Given the description of an element on the screen output the (x, y) to click on. 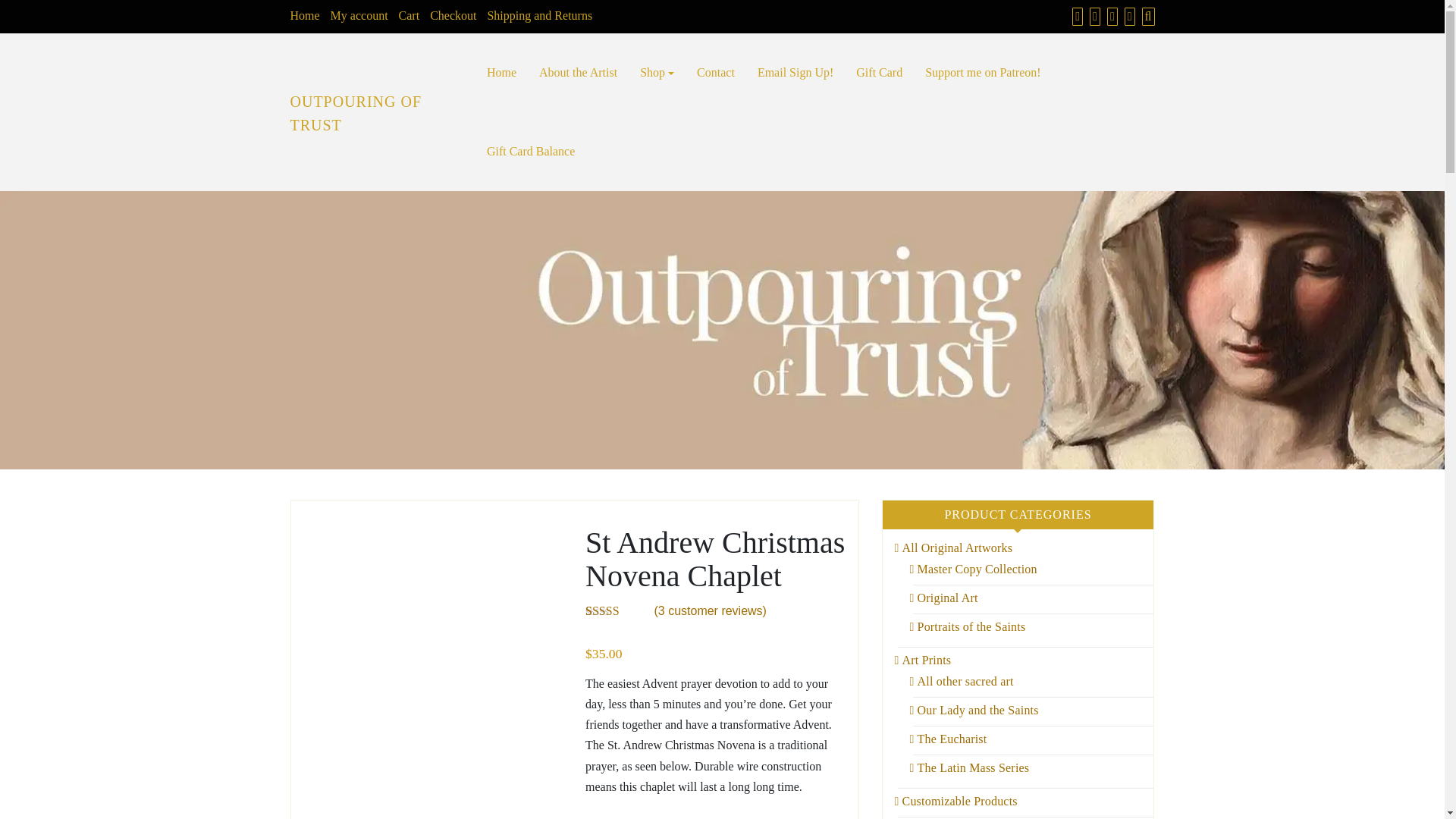
Checkout (456, 15)
Shop (1075, 15)
Cart (413, 15)
My account (363, 15)
About the Artist (577, 72)
Home (307, 15)
My Account  (1110, 15)
Shipping and Returns (542, 15)
Search (1146, 15)
OUTPOURING OF TRUST (355, 113)
